Given the description of an element on the screen output the (x, y) to click on. 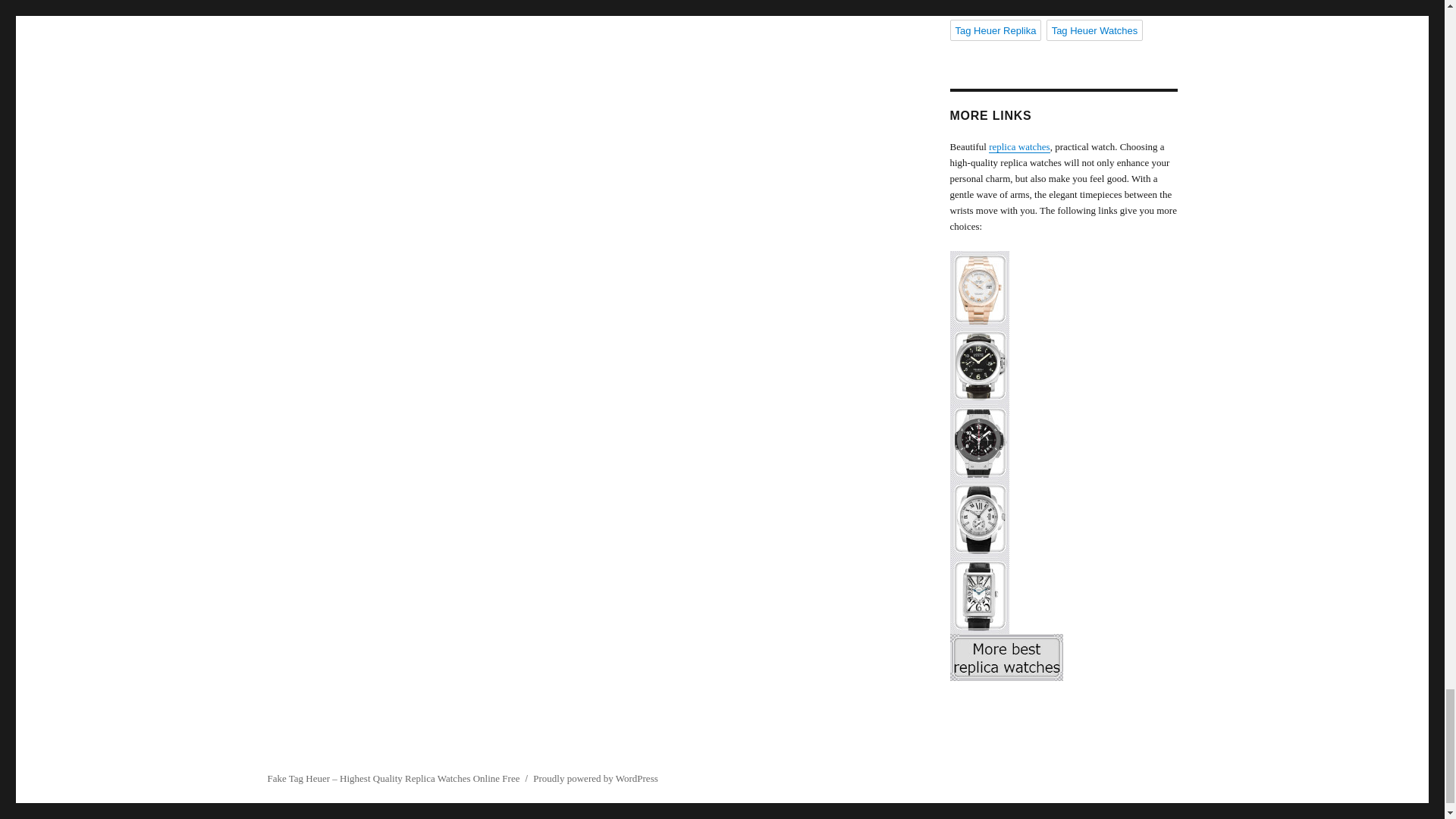
rolex replica watches (1062, 288)
panerai replica watches (1062, 365)
hublot replica watches (1062, 442)
cartier replica watches (1062, 518)
